Given the description of an element on the screen output the (x, y) to click on. 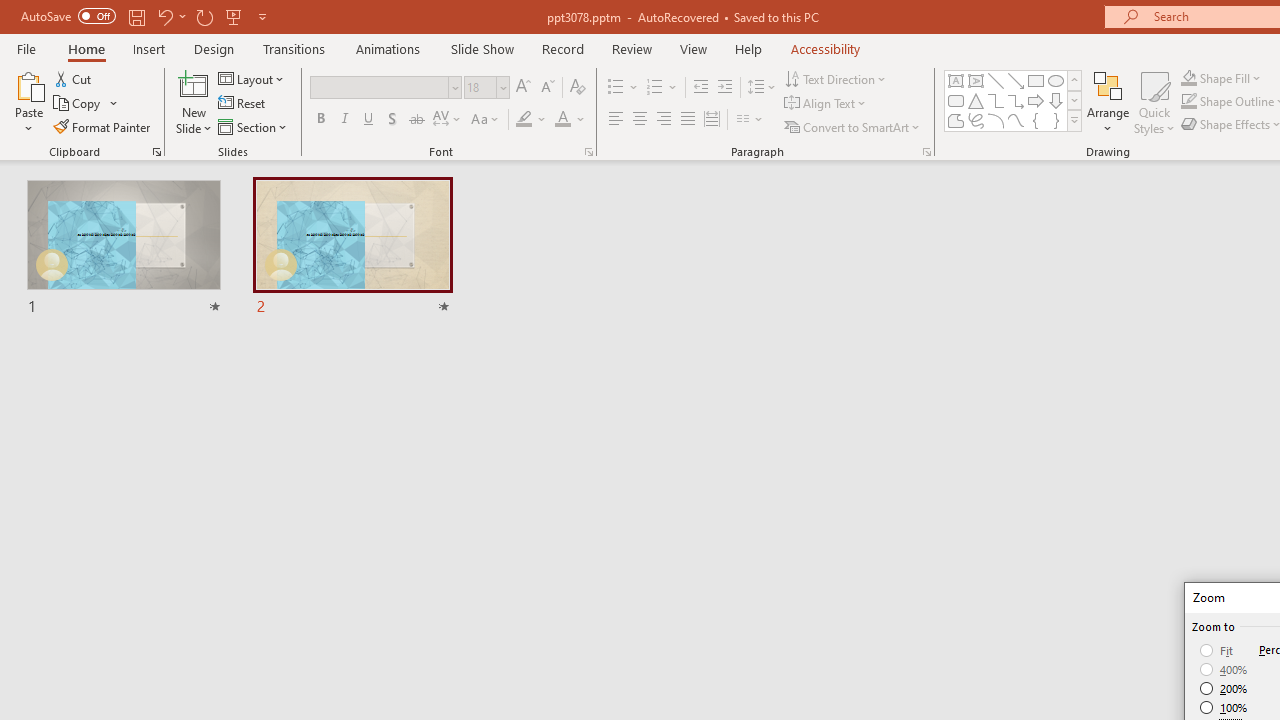
100% (1224, 707)
